Given the description of an element on the screen output the (x, y) to click on. 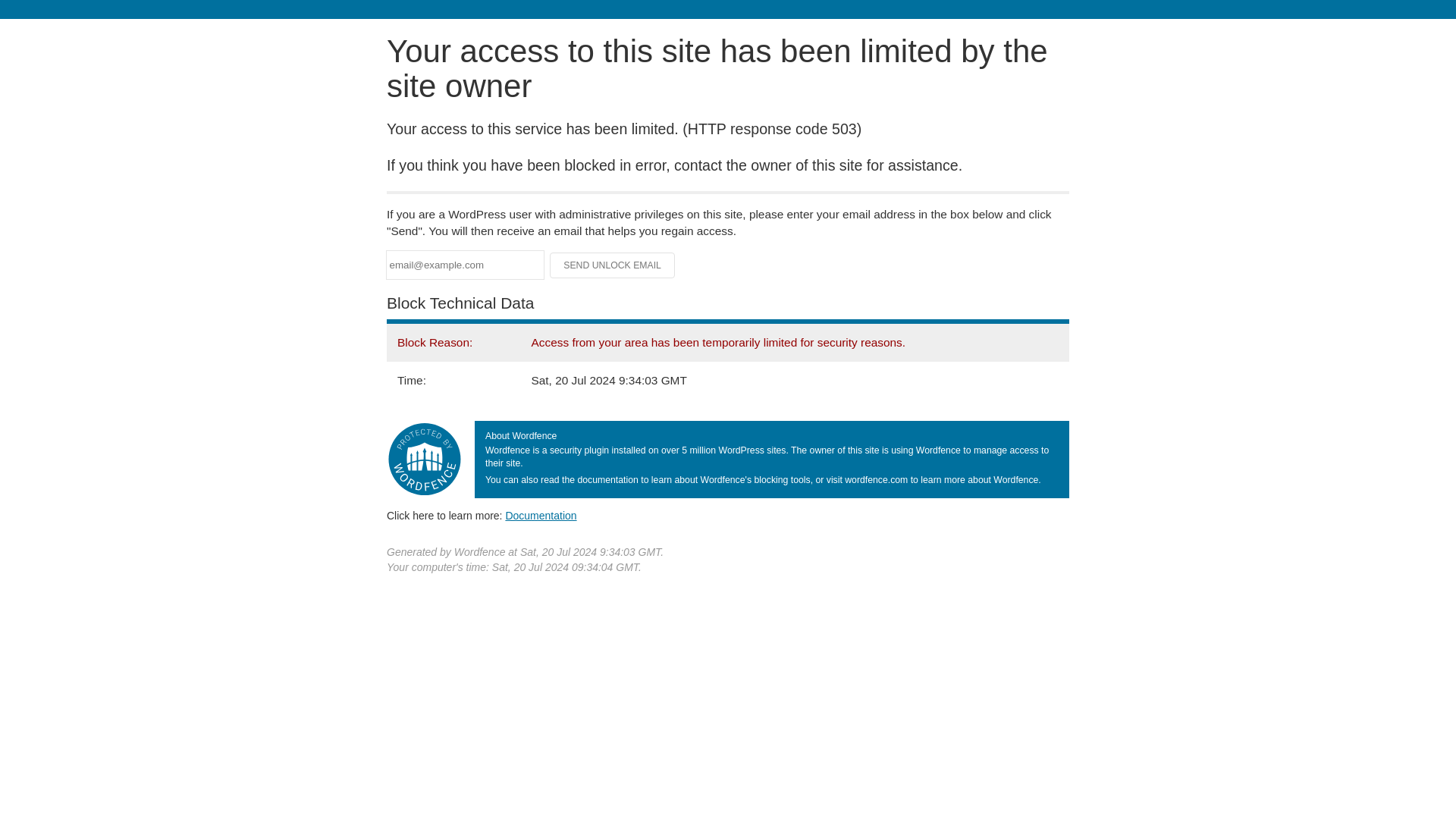
Documentation (540, 515)
Send Unlock Email (612, 265)
Send Unlock Email (612, 265)
